Given the description of an element on the screen output the (x, y) to click on. 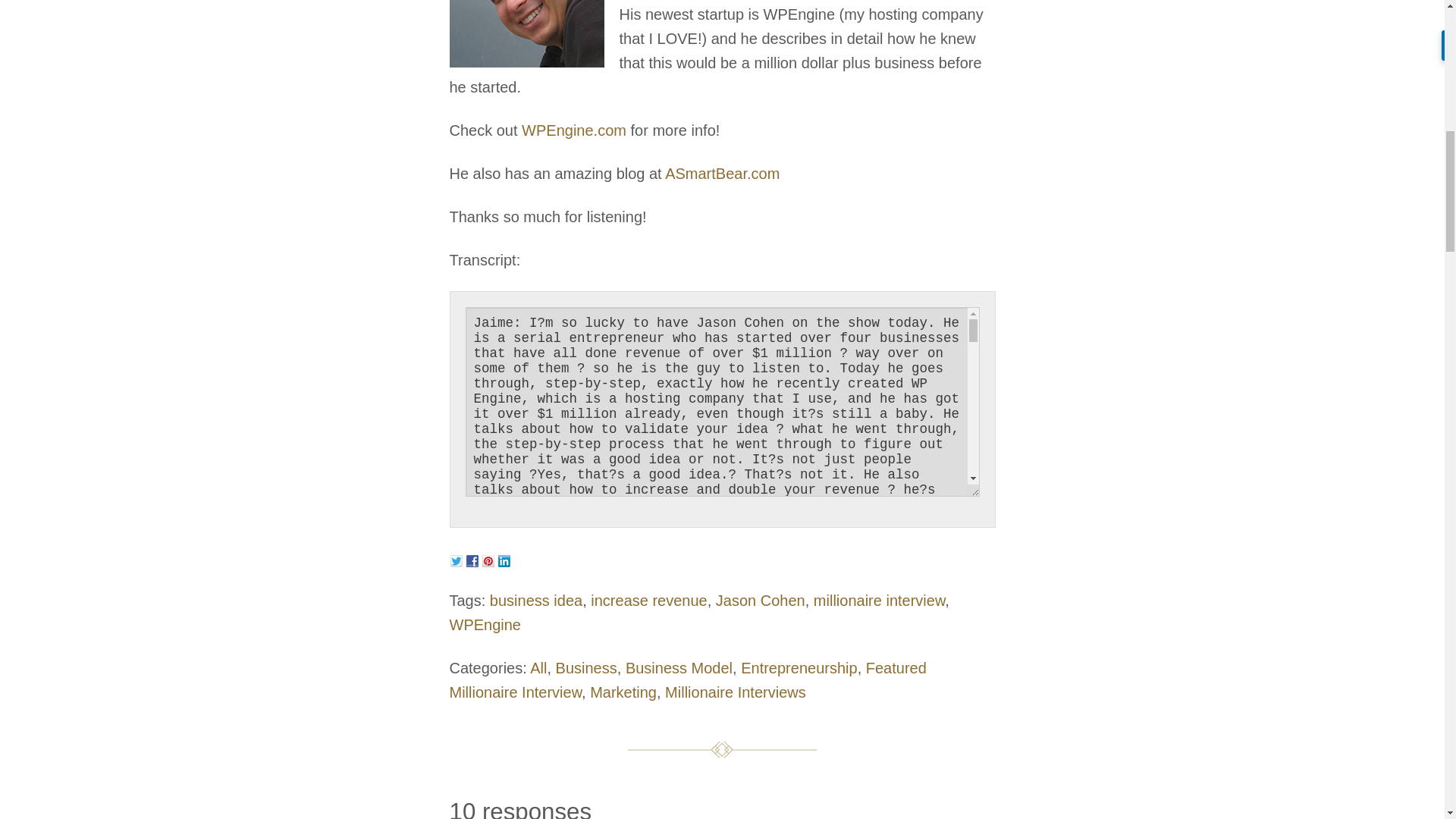
Business (586, 668)
WP Engine (573, 130)
millionaire interview (878, 600)
WPEngine (484, 624)
business idea (535, 600)
Linkedin (505, 559)
Jason Cohen (760, 600)
increase revenue (648, 600)
WPEngine.com (573, 130)
Business Model (679, 668)
All (538, 668)
Facebook (473, 559)
Twitter (457, 559)
ASmartBear.com (721, 173)
Entrepreneurship (799, 668)
